Given the description of an element on the screen output the (x, y) to click on. 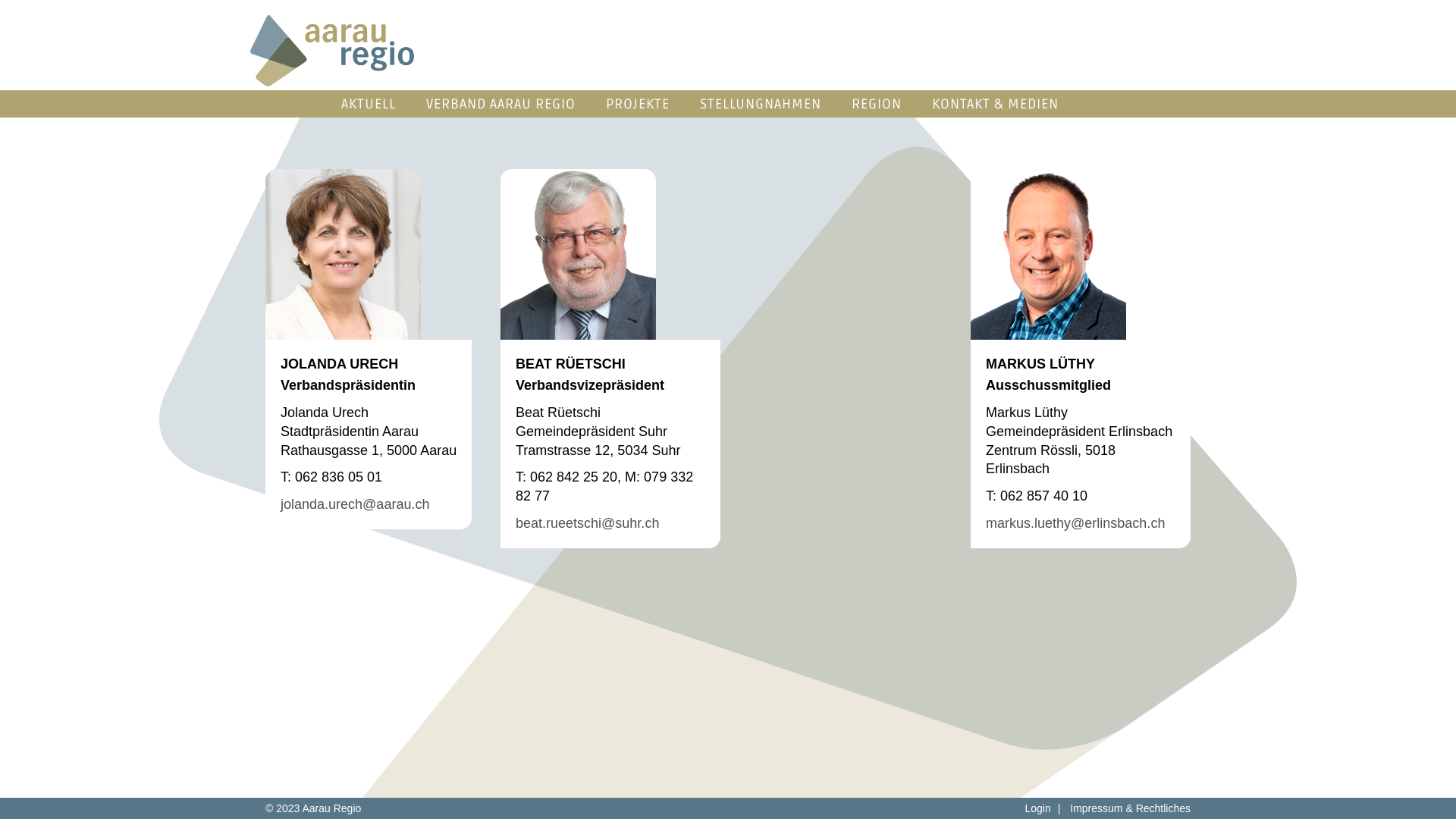
STELLUNGNAHMEN Element type: text (760, 103)
KONTAKT & MEDIEN Element type: text (994, 103)
Login Element type: text (1037, 808)
jolanda.urech@aarau.ch Element type: text (354, 503)
Impressum & Rechtliches Element type: text (1130, 808)
beat.rueetschi@suhr.ch Element type: text (586, 522)
AKTUELL Element type: text (368, 103)
markus.luethy@erlinsbach.ch Element type: text (1074, 522)
REGION Element type: text (876, 103)
VERBAND AARAU REGIO Element type: text (500, 103)
PROJEKTE Element type: text (637, 103)
